Given the description of an element on the screen output the (x, y) to click on. 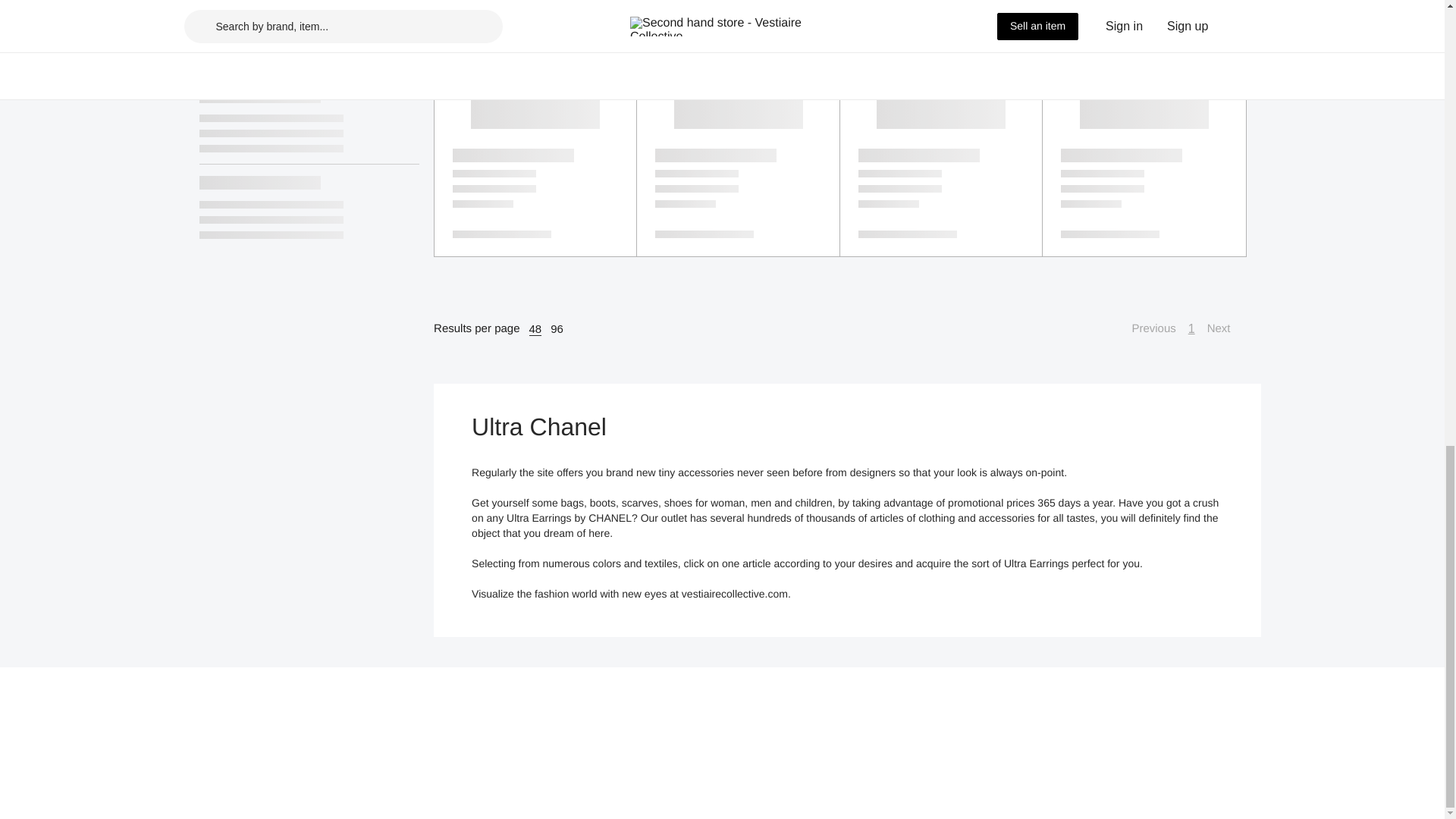
1 (1191, 329)
Previous (1145, 329)
48 (535, 328)
96 (556, 328)
Next (1226, 329)
